Given the description of an element on the screen output the (x, y) to click on. 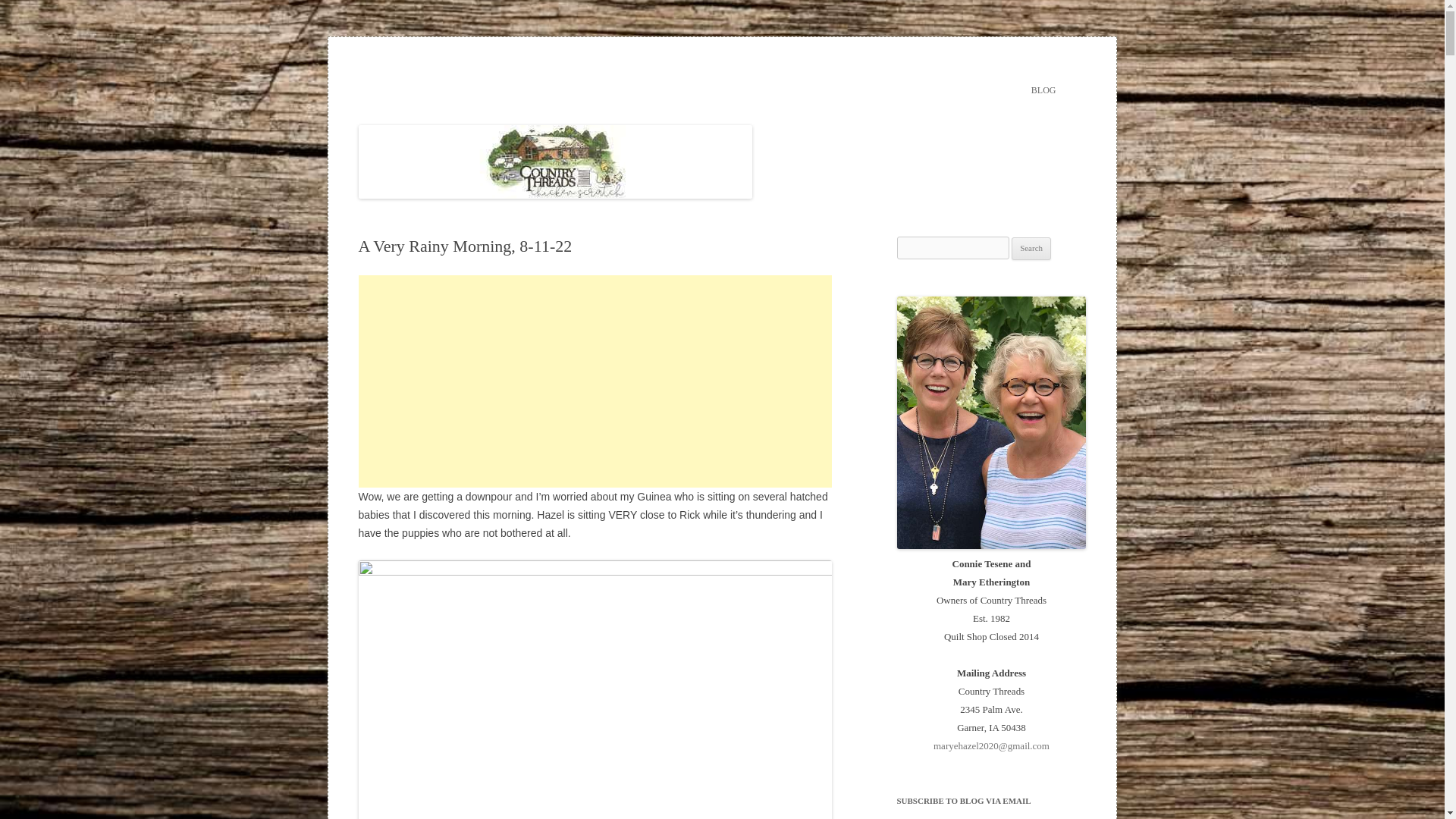
Search (1031, 248)
Advertisement (594, 381)
Country Threads Chicken Scratch (502, 73)
